Given the description of an element on the screen output the (x, y) to click on. 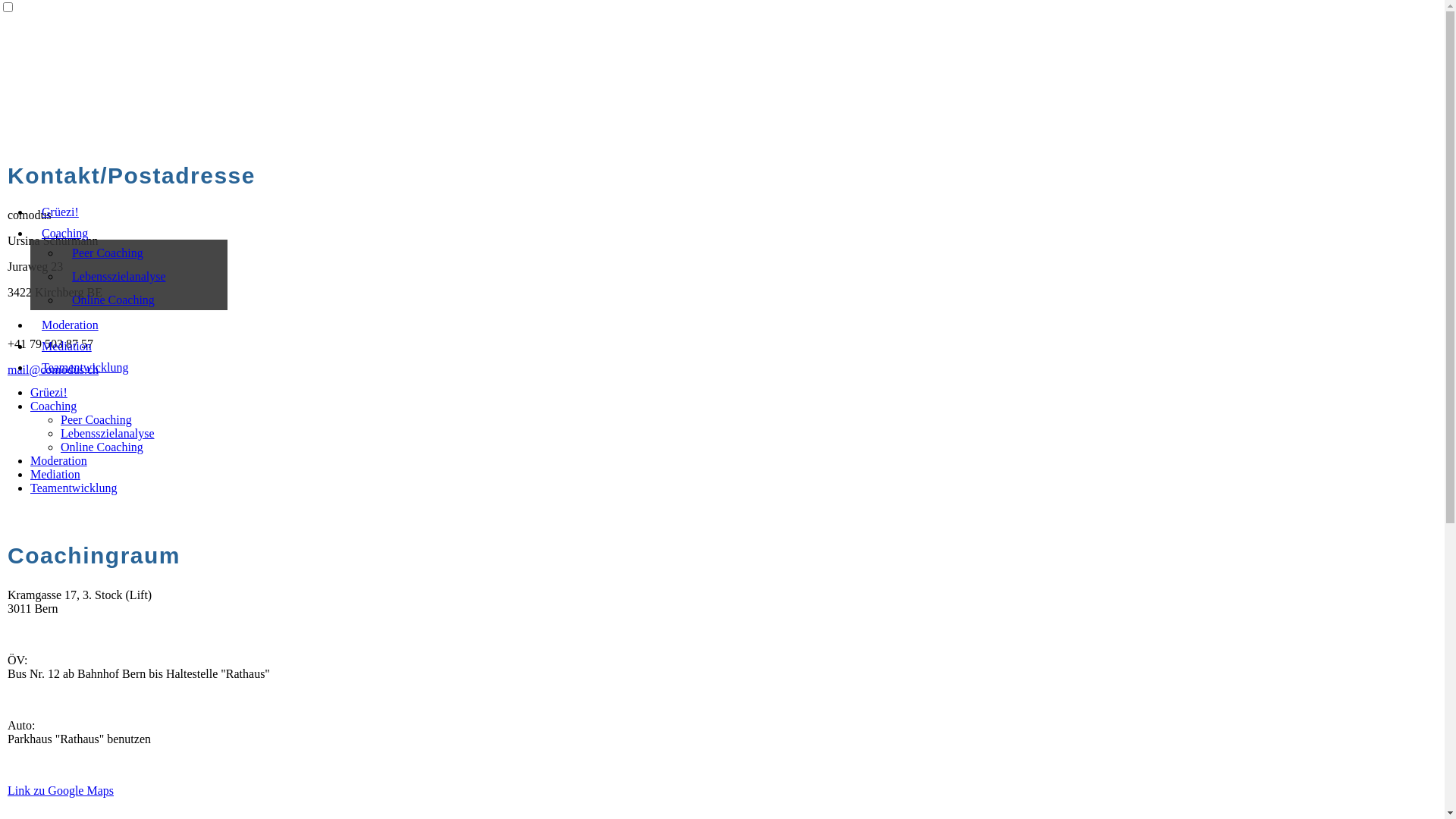
Link zu Google Maps Element type: text (60, 790)
Peer Coaching Element type: text (143, 251)
Lebensszielanalyse Element type: text (107, 432)
Mediation Element type: text (128, 346)
Moderation Element type: text (128, 325)
Teamentwicklung Element type: text (73, 487)
mail@comodus.ch Element type: text (52, 369)
Peer Coaching Element type: text (95, 419)
Mediation Element type: text (55, 473)
Moderation Element type: text (58, 460)
Coaching Element type: text (53, 405)
Coaching Element type: text (128, 233)
Lebensszielanalyse Element type: text (143, 274)
Online Coaching Element type: text (101, 446)
Teamentwicklung Element type: text (128, 367)
Online Coaching Element type: text (143, 298)
